Given the description of an element on the screen output the (x, y) to click on. 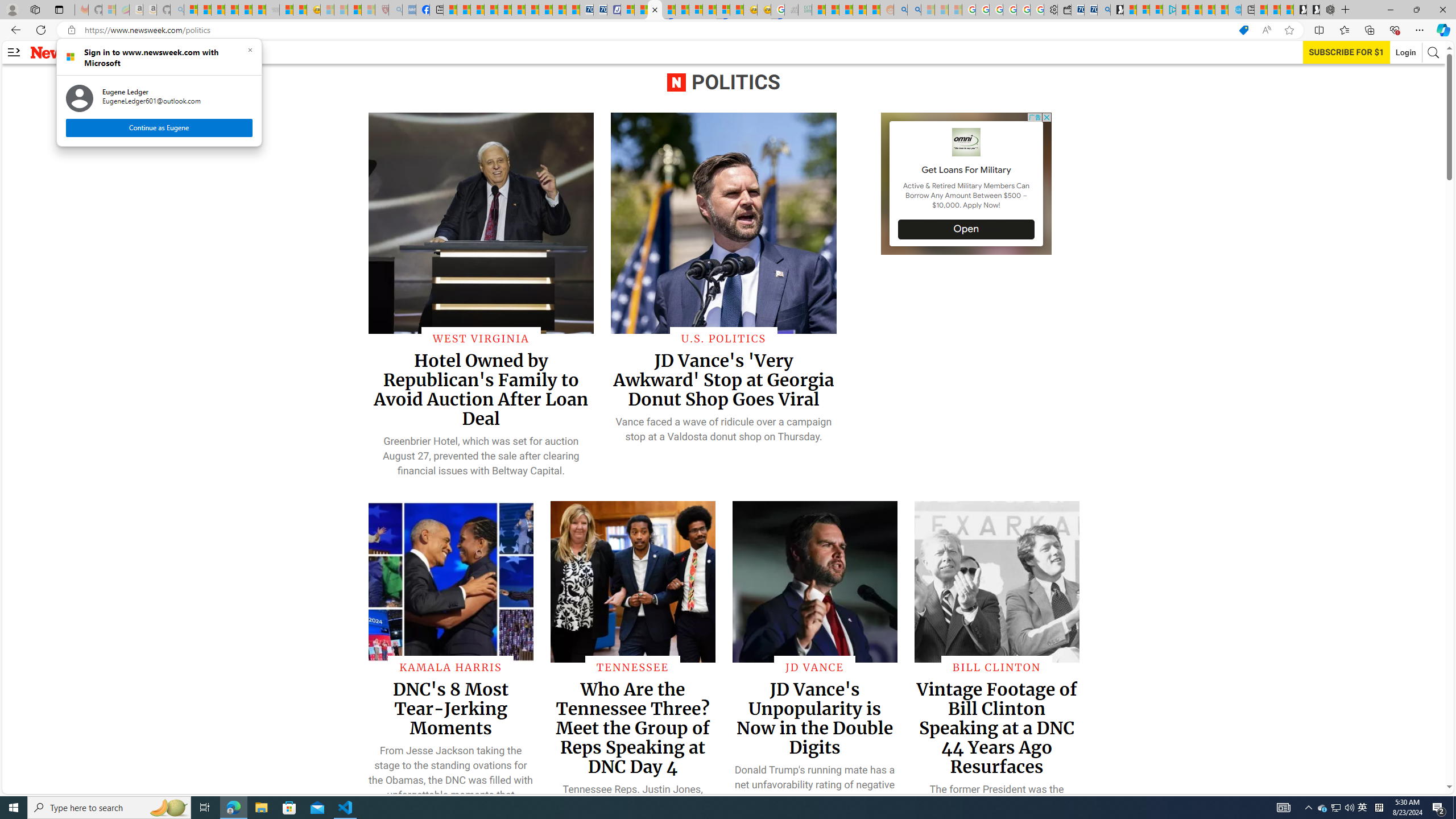
Microsoft Store (289, 807)
Action Center, 2 new notifications (1439, 807)
WEST VIRGINIA (480, 338)
